Given the description of an element on the screen output the (x, y) to click on. 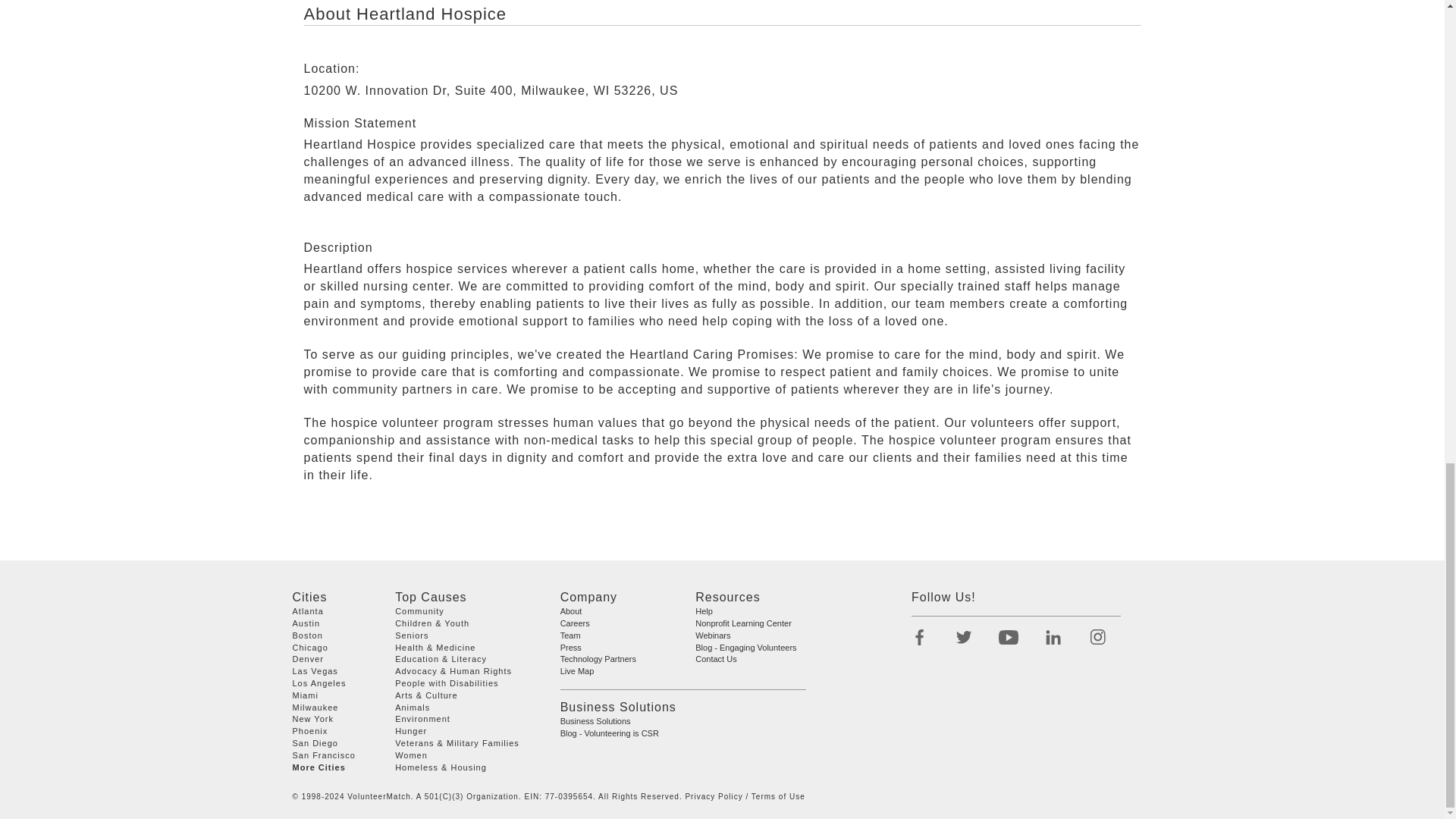
Boston (307, 634)
Atlanta (307, 610)
Denver (307, 658)
Chicago (310, 646)
Las Vegas (314, 670)
Austin (306, 623)
Los Angeles (319, 682)
